Given the description of an element on the screen output the (x, y) to click on. 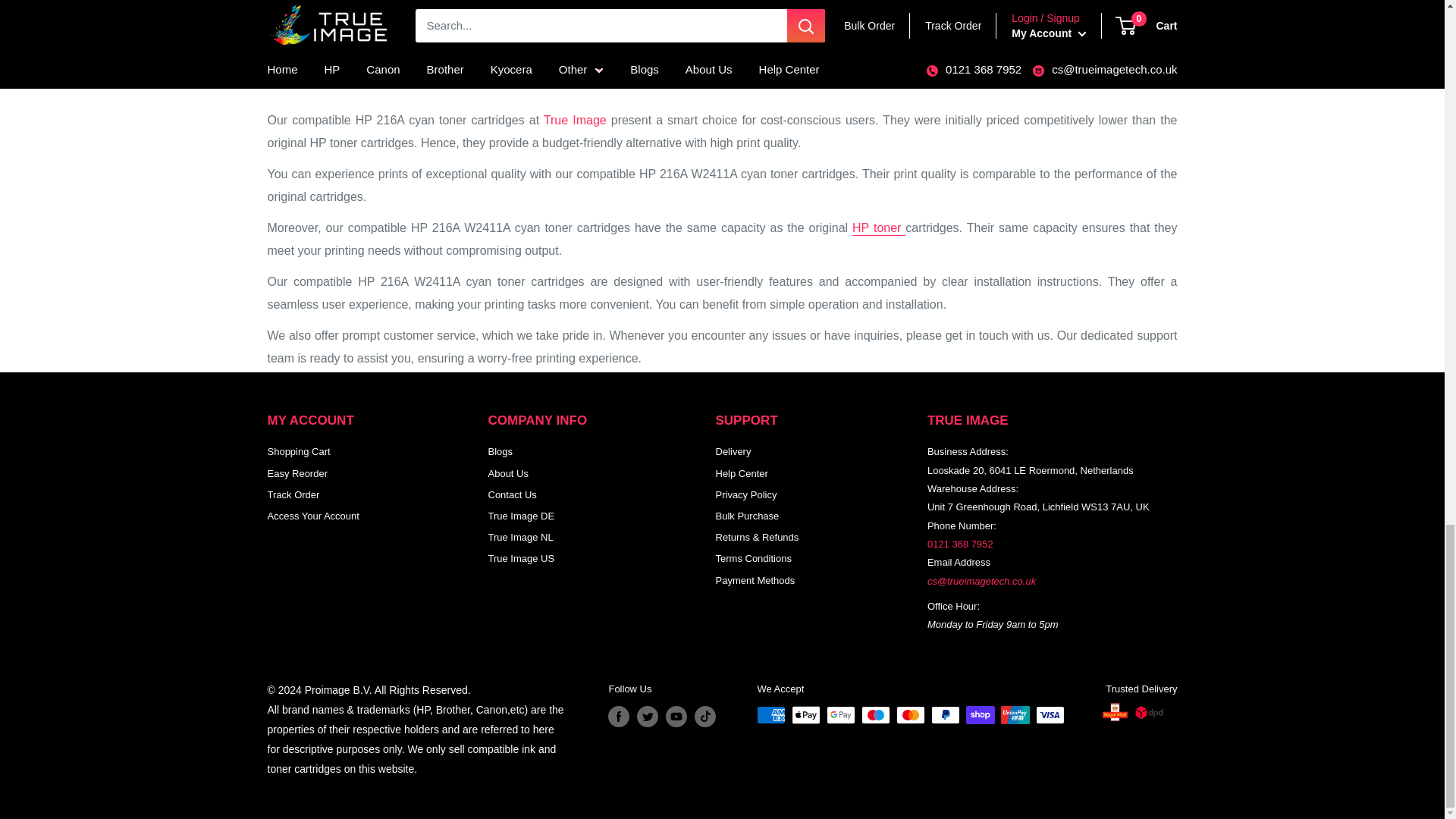
tel:00441213687952 (959, 543)
